Given the description of an element on the screen output the (x, y) to click on. 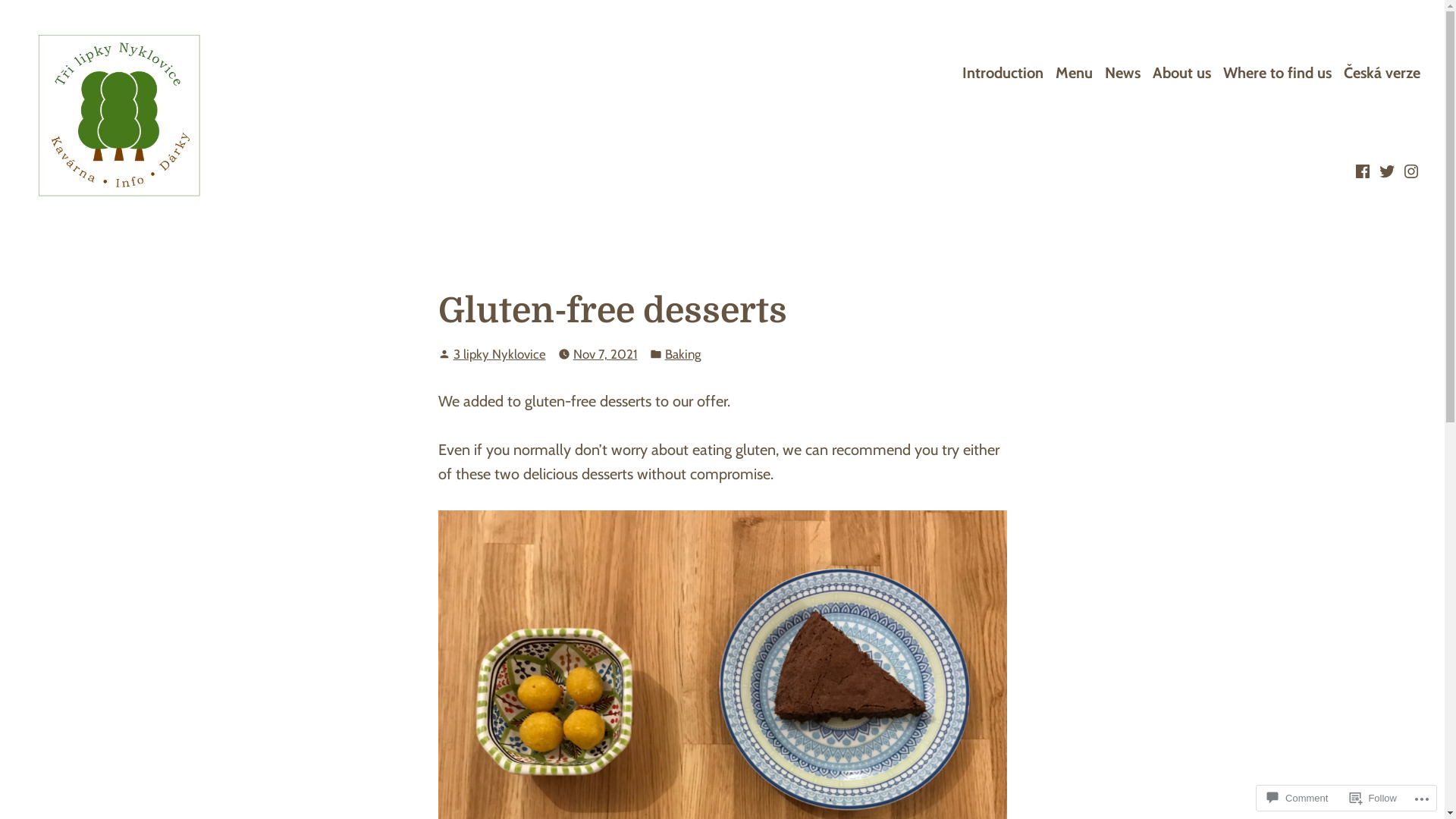
3 lipky Nyklovice Element type: text (499, 353)
Baking Element type: text (681, 354)
Follow Element type: text (1372, 797)
Menu Element type: text (1073, 72)
Where to find us Element type: text (1277, 72)
News Element type: text (1122, 72)
Comment Element type: text (1297, 797)
About us Element type: text (1181, 72)
Introduction Element type: text (1002, 72)
Nov 7, 2021 Element type: text (605, 354)
